Given the description of an element on the screen output the (x, y) to click on. 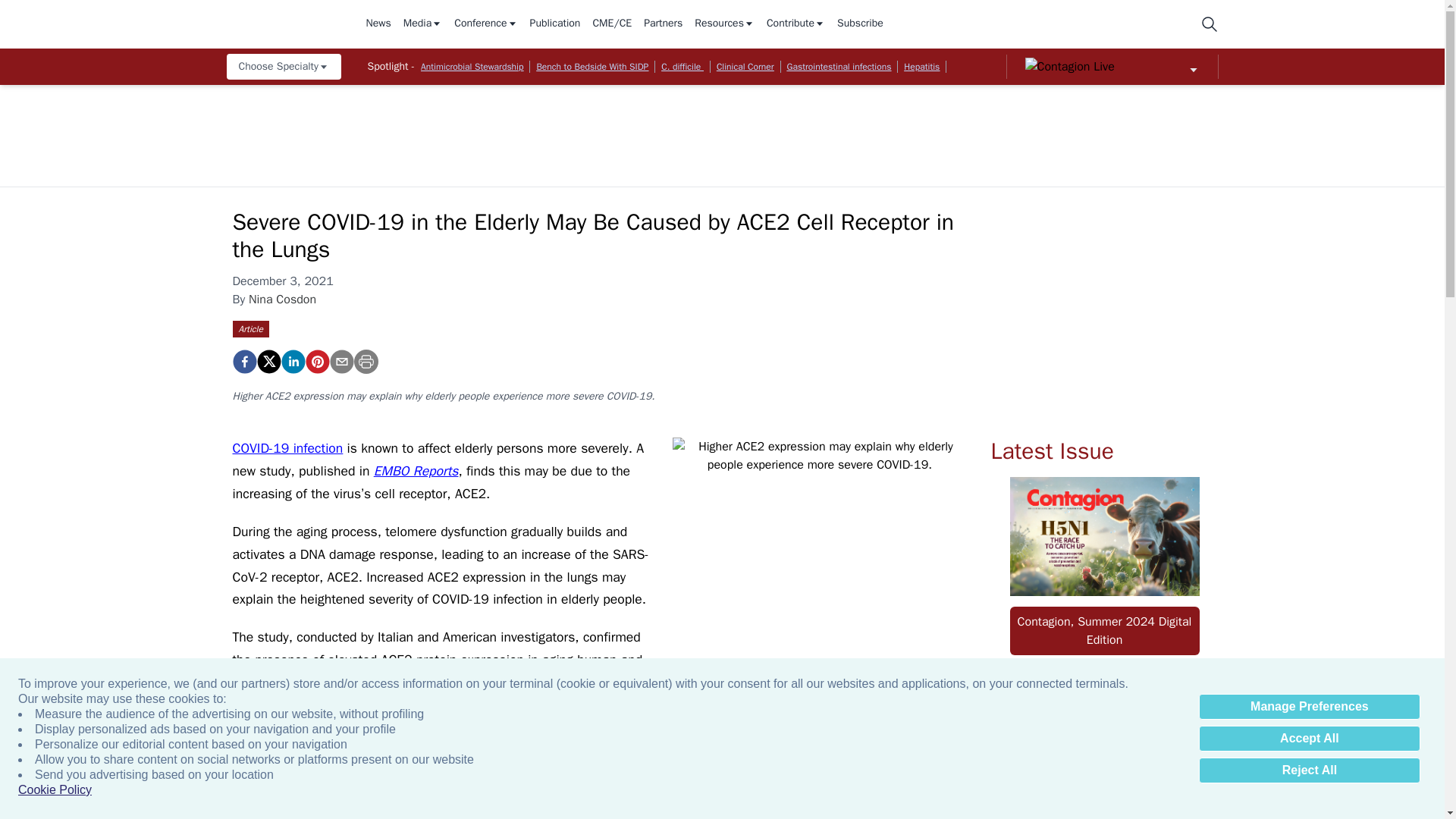
Cookie Policy (54, 789)
News (377, 23)
Resources (724, 23)
Manage Preferences (1309, 706)
Contribute (796, 23)
Partners (662, 23)
Subscribe (860, 23)
Reject All (1309, 769)
Choose Specialty (282, 66)
Publication (554, 23)
Media (422, 23)
Conference (485, 23)
Accept All (1309, 738)
